Given the description of an element on the screen output the (x, y) to click on. 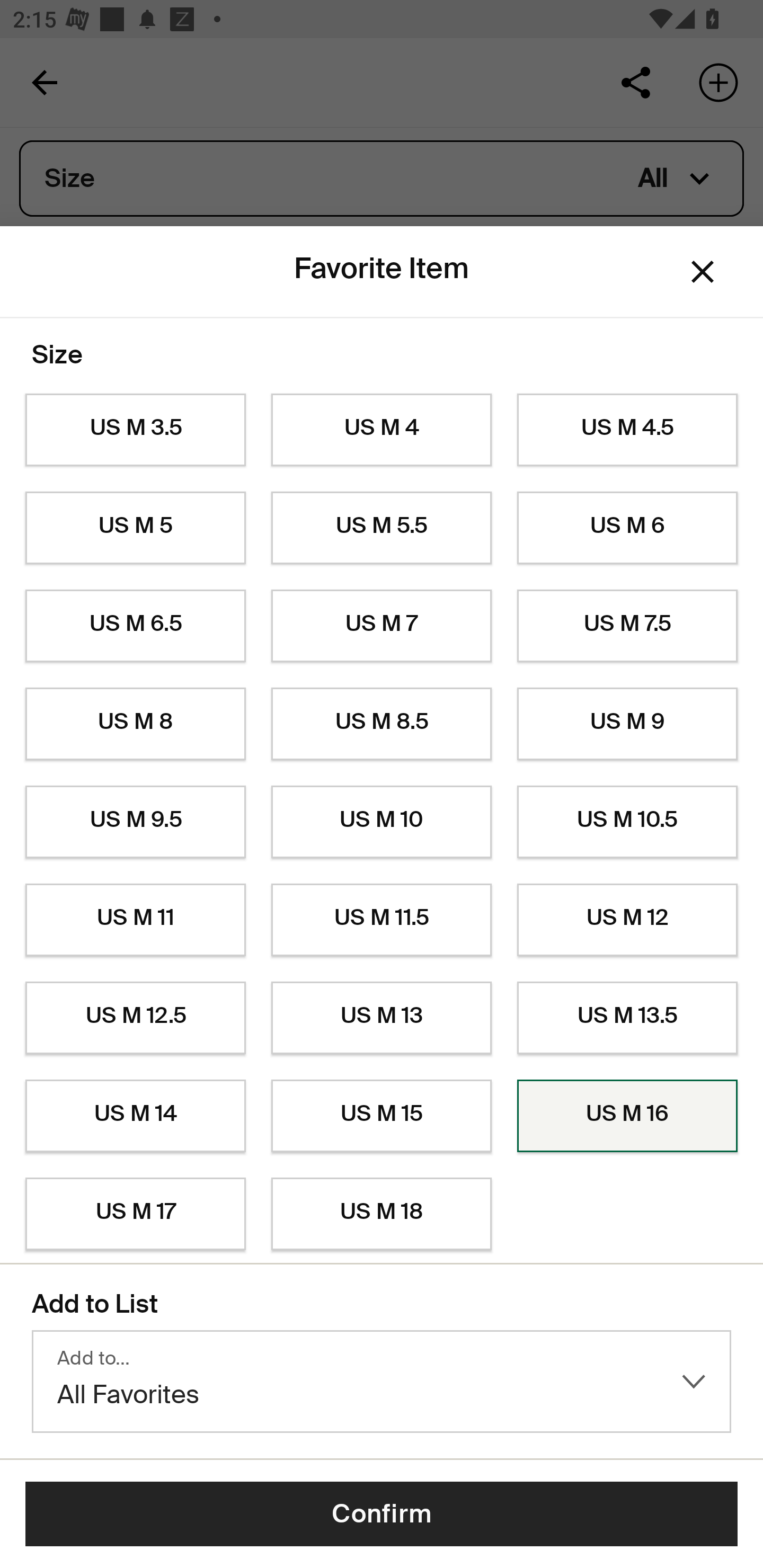
Dismiss (702, 271)
US M 3.5 (135, 430)
US M 4 (381, 430)
US M 4.5 (627, 430)
US M 5 (135, 527)
US M 5.5 (381, 527)
US M 6 (627, 527)
US M 6.5 (135, 626)
US M 7 (381, 626)
US M 7.5 (627, 626)
US M 8 (135, 724)
US M 8.5 (381, 724)
US M 9 (627, 724)
US M 9.5 (135, 822)
US M 10 (381, 822)
US M 10.5 (627, 822)
US M 11 (135, 919)
US M 11.5 (381, 919)
US M 12 (627, 919)
US M 12.5 (135, 1018)
US M 13 (381, 1018)
US M 13.5 (627, 1018)
US M 14 (135, 1116)
US M 15 (381, 1116)
US M 16 (627, 1116)
US M 17 (135, 1214)
US M 18 (381, 1214)
Add to… All Favorites (381, 1381)
Confirm (381, 1513)
